Given the description of an element on the screen output the (x, y) to click on. 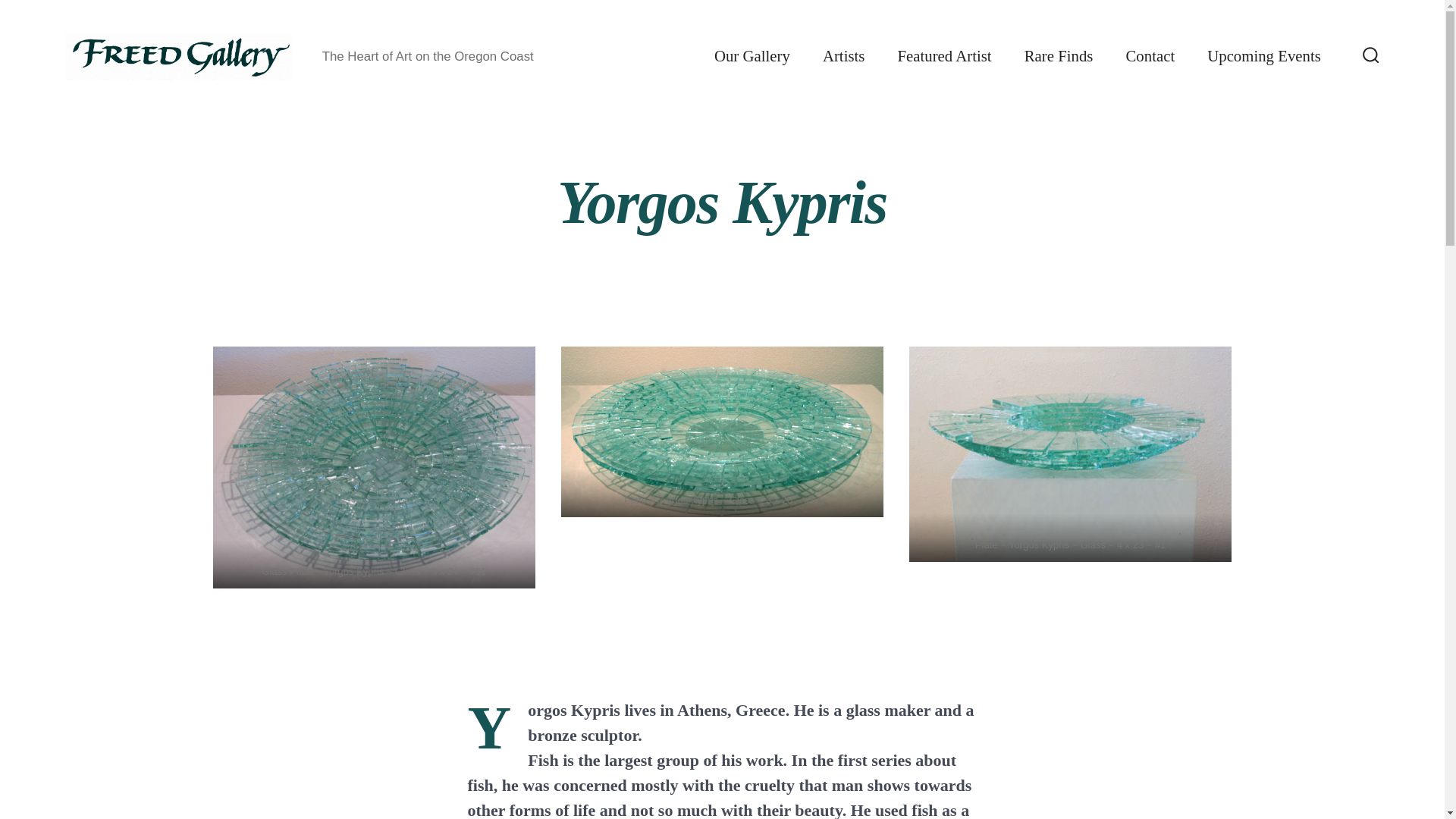
Our Gallery (752, 55)
Contact (1149, 55)
Rare Finds (1059, 55)
Search Toggle (1371, 56)
Upcoming Events (1263, 55)
Artists (843, 55)
Featured Artist (943, 55)
